Given the description of an element on the screen output the (x, y) to click on. 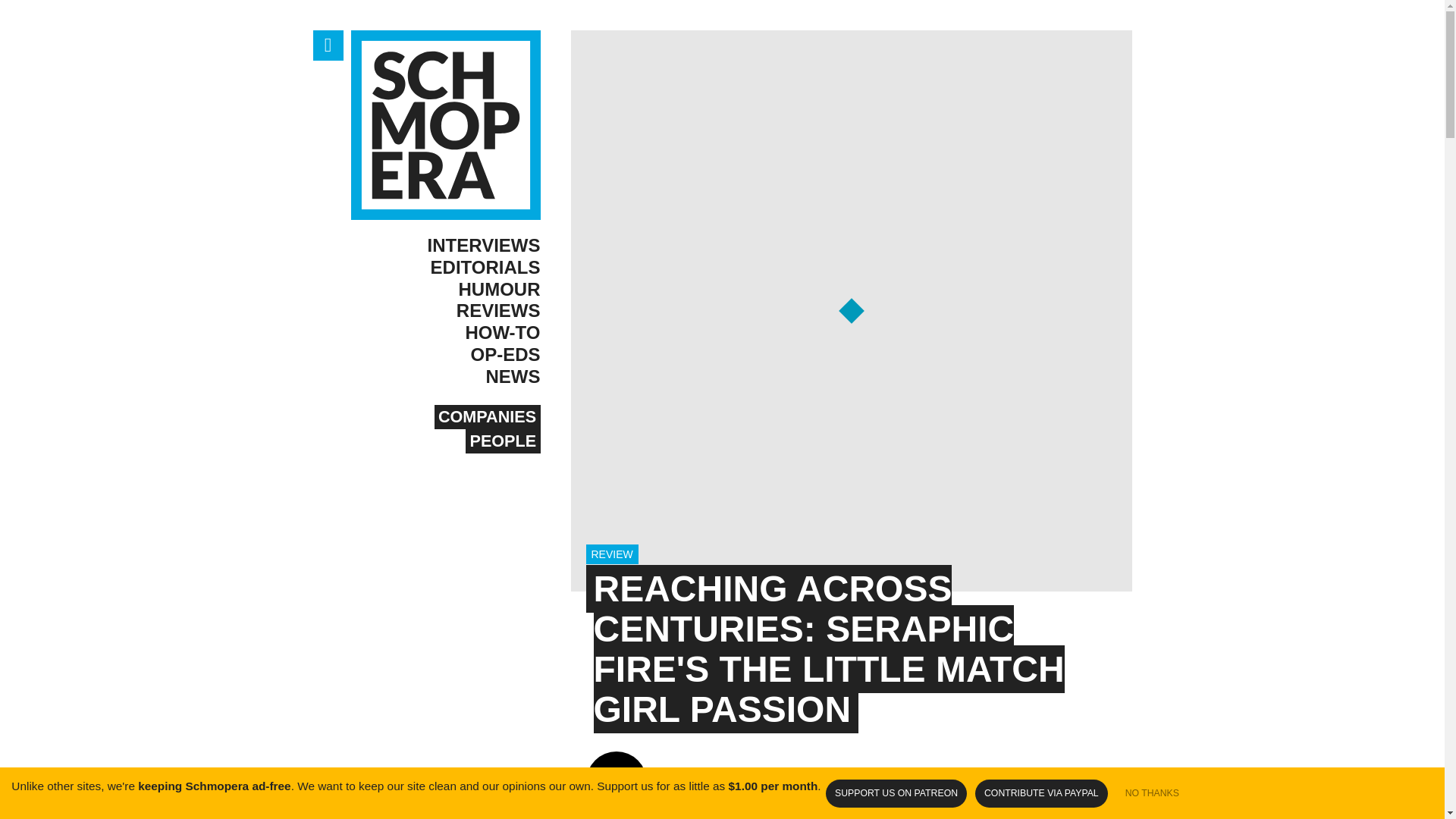
Primary Navigation (327, 45)
NEWS (445, 377)
REVIEWS (445, 311)
OP-EDS (445, 354)
HUMOUR (445, 290)
HOW-TO (445, 332)
PEOPLE (502, 441)
Back to home page (445, 125)
Carly Gordon (655, 780)
EDITORIALS (445, 268)
COMPANIES (486, 416)
INTERVIEWS (445, 246)
